Given the description of an element on the screen output the (x, y) to click on. 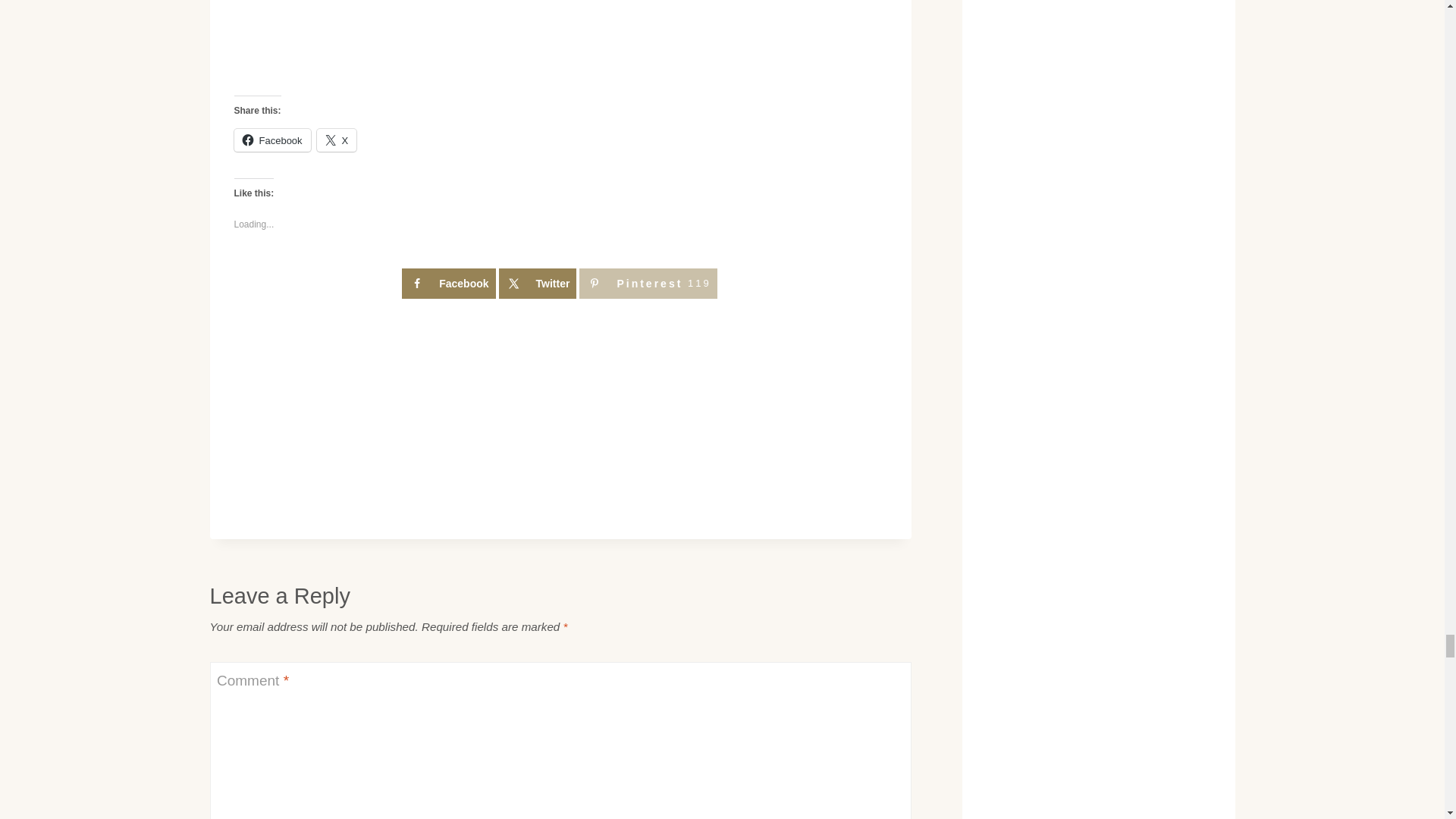
Save to Pinterest (648, 283)
Share on Facebook (448, 283)
Share on X (537, 283)
Click to share on X (336, 139)
Click to share on Facebook (271, 139)
